Given the description of an element on the screen output the (x, y) to click on. 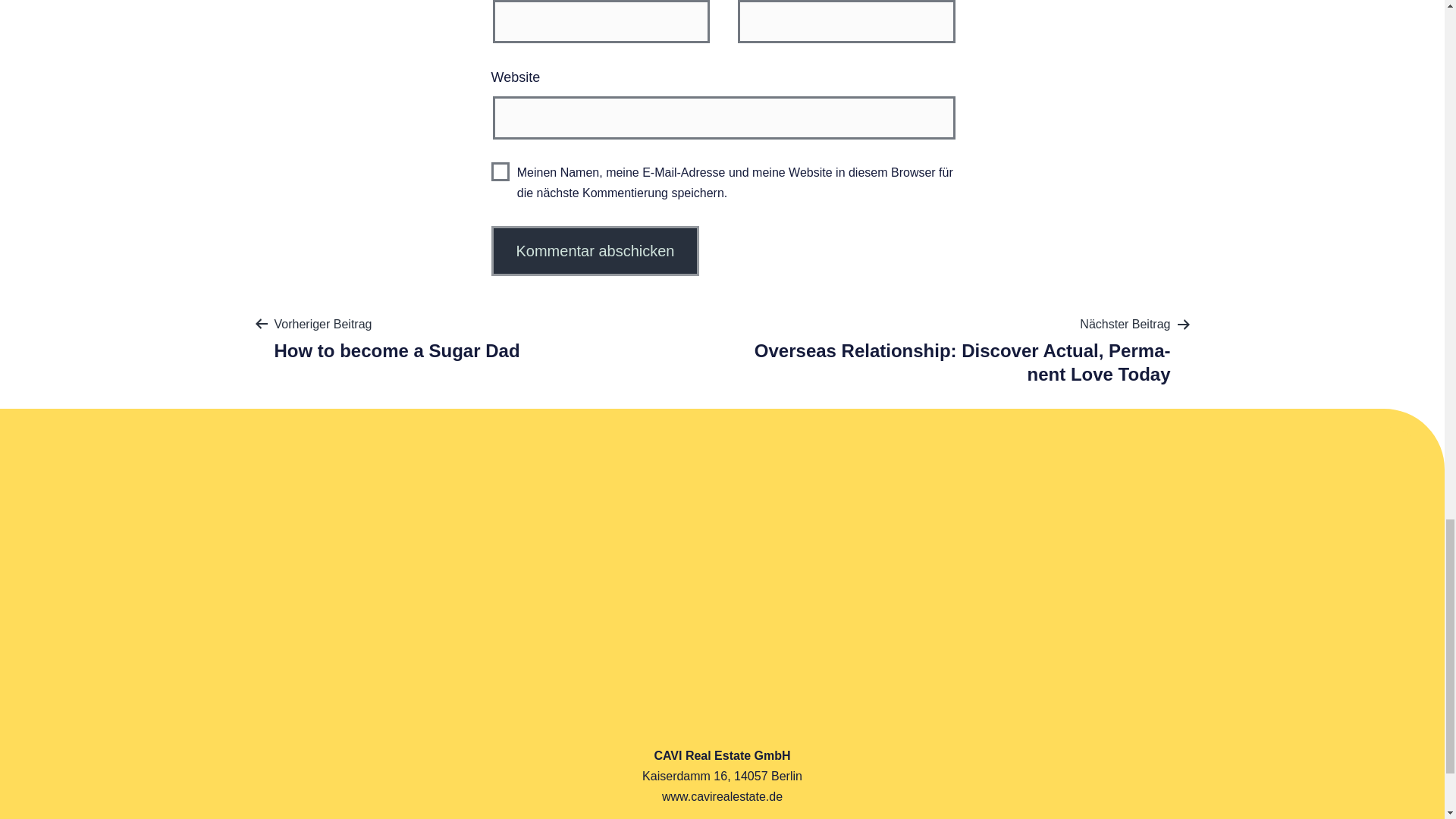
www.cavirealestate.de (722, 796)
Kommentar abschicken (596, 251)
yes (500, 171)
Kommentar abschicken (596, 251)
